Given the description of an element on the screen output the (x, y) to click on. 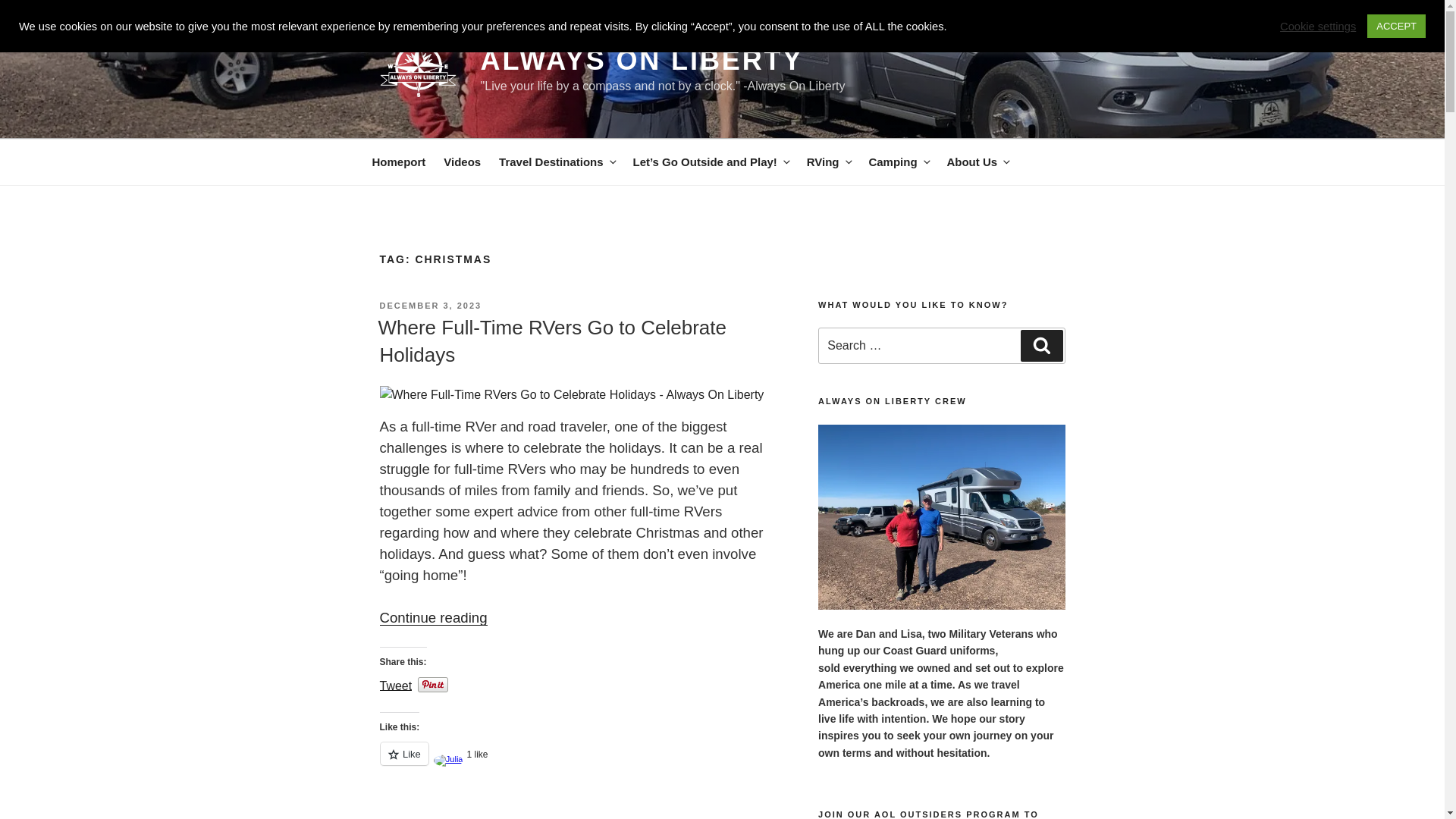
Homeport (398, 161)
Videos (461, 161)
ALWAYS ON LIBERTY (641, 60)
Like or Reblog (577, 762)
Travel Destinations (557, 161)
Camping (898, 161)
RVing (829, 161)
